Given the description of an element on the screen output the (x, y) to click on. 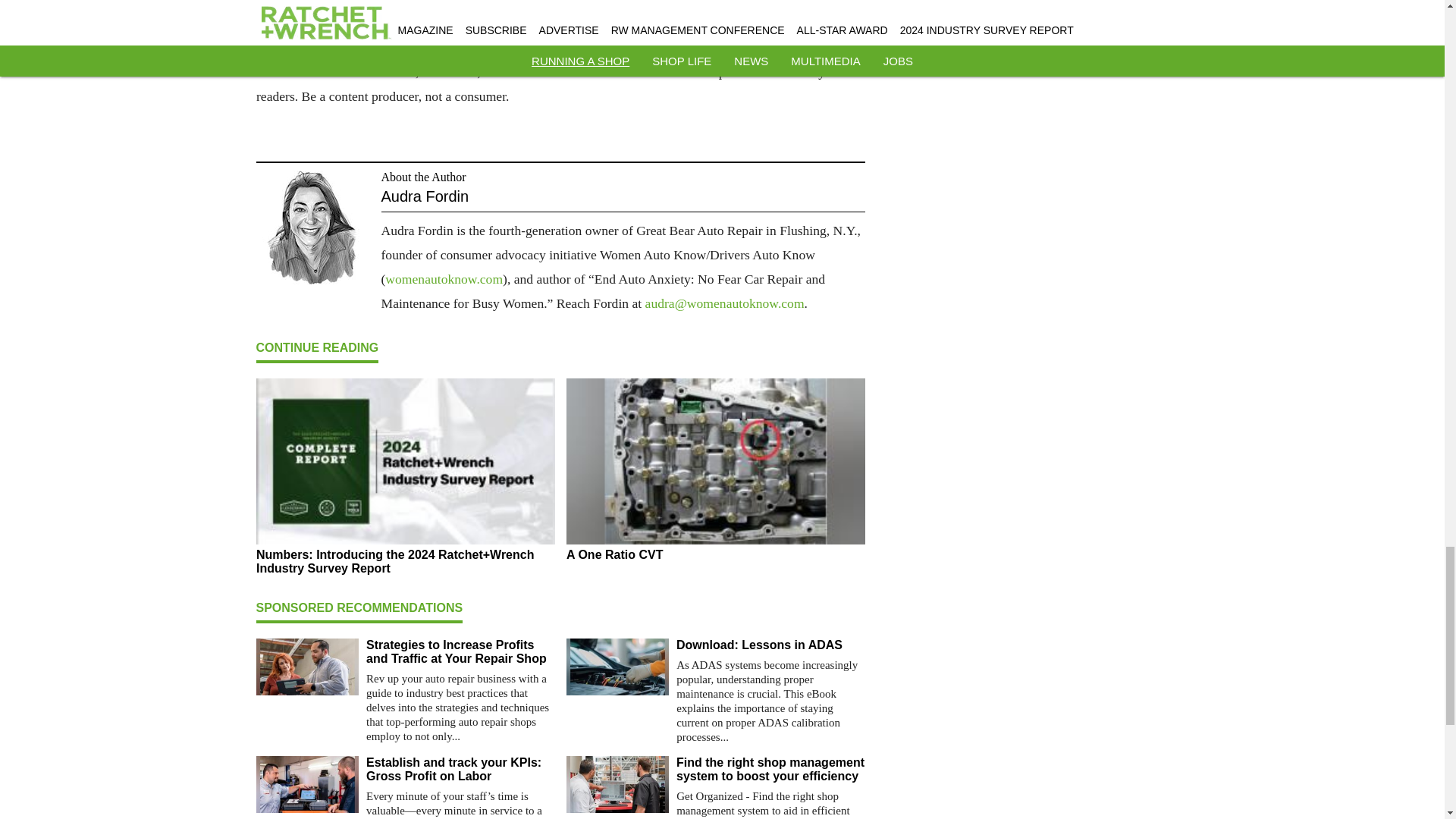
Establish and track your KPIs: Gross Profit on Labor (459, 768)
Download: Lessons in ADAS (770, 644)
A One Ratio CVT (715, 554)
womenautoknow.com (443, 278)
